Given the description of an element on the screen output the (x, y) to click on. 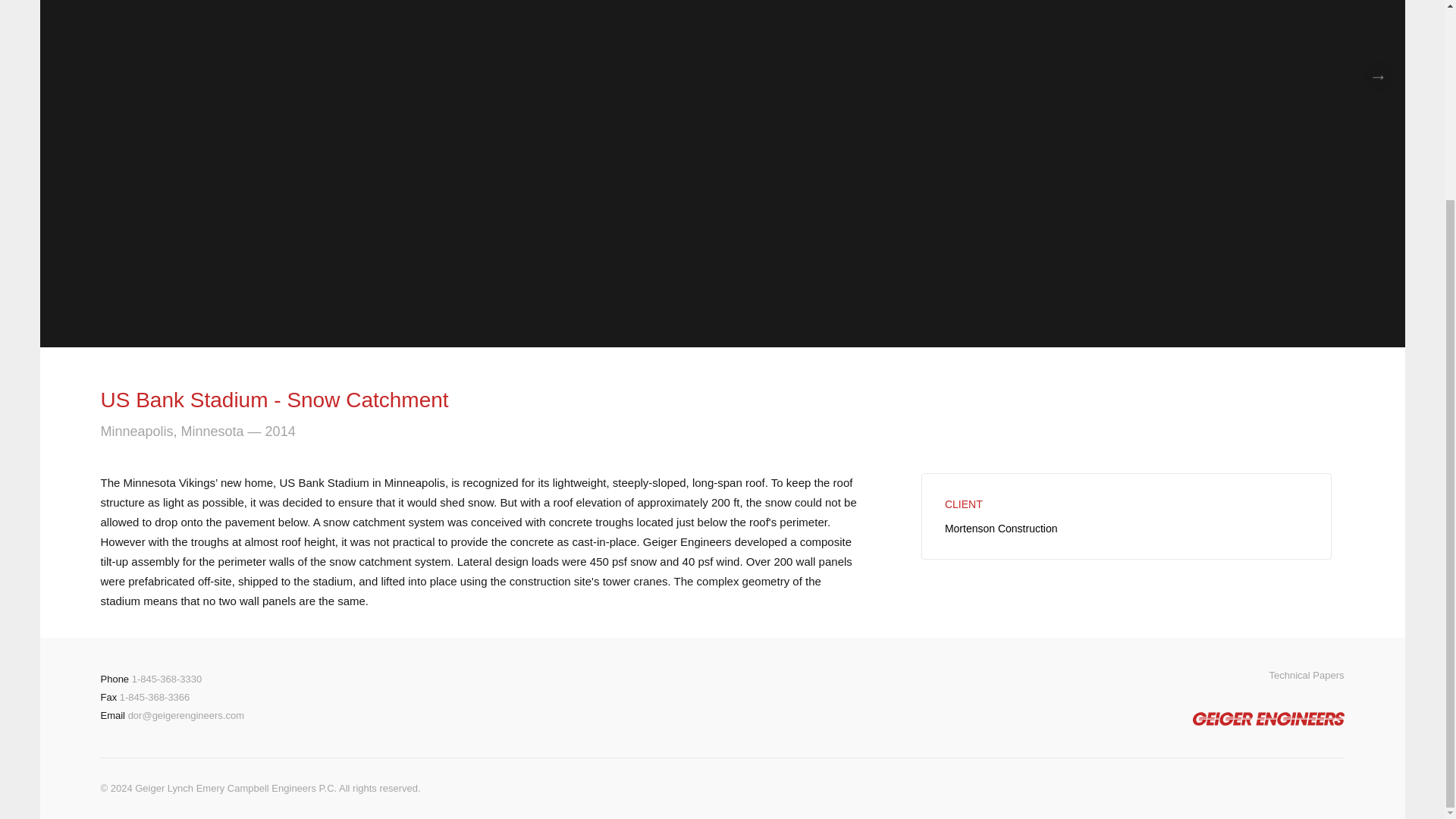
Technical Papers (1306, 674)
